Given the description of an element on the screen output the (x, y) to click on. 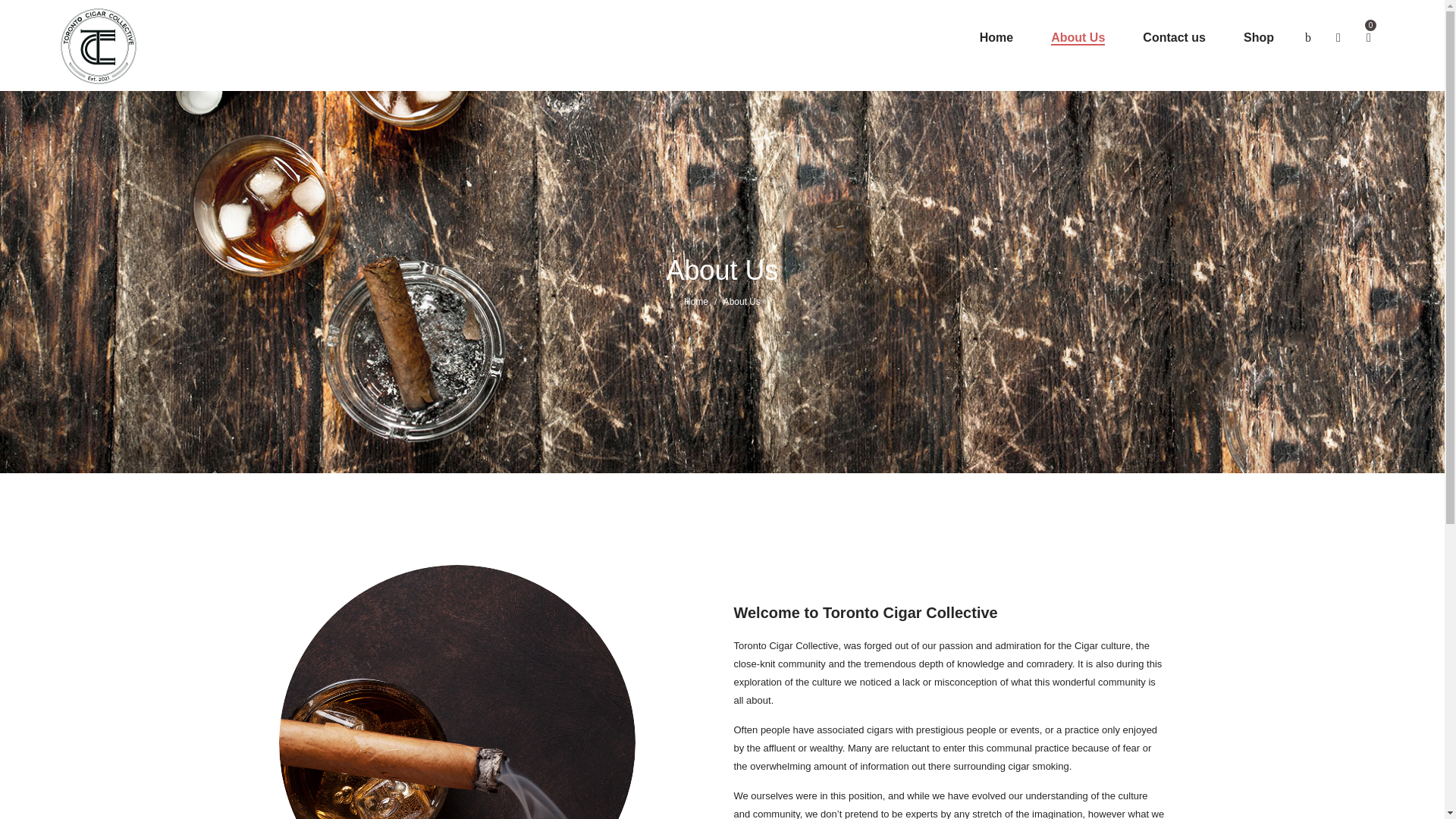
Home (695, 301)
Home (996, 37)
0 (1369, 37)
About Us (1077, 37)
Shop (1258, 37)
Home (695, 301)
Contact us (1174, 37)
